Given the description of an element on the screen output the (x, y) to click on. 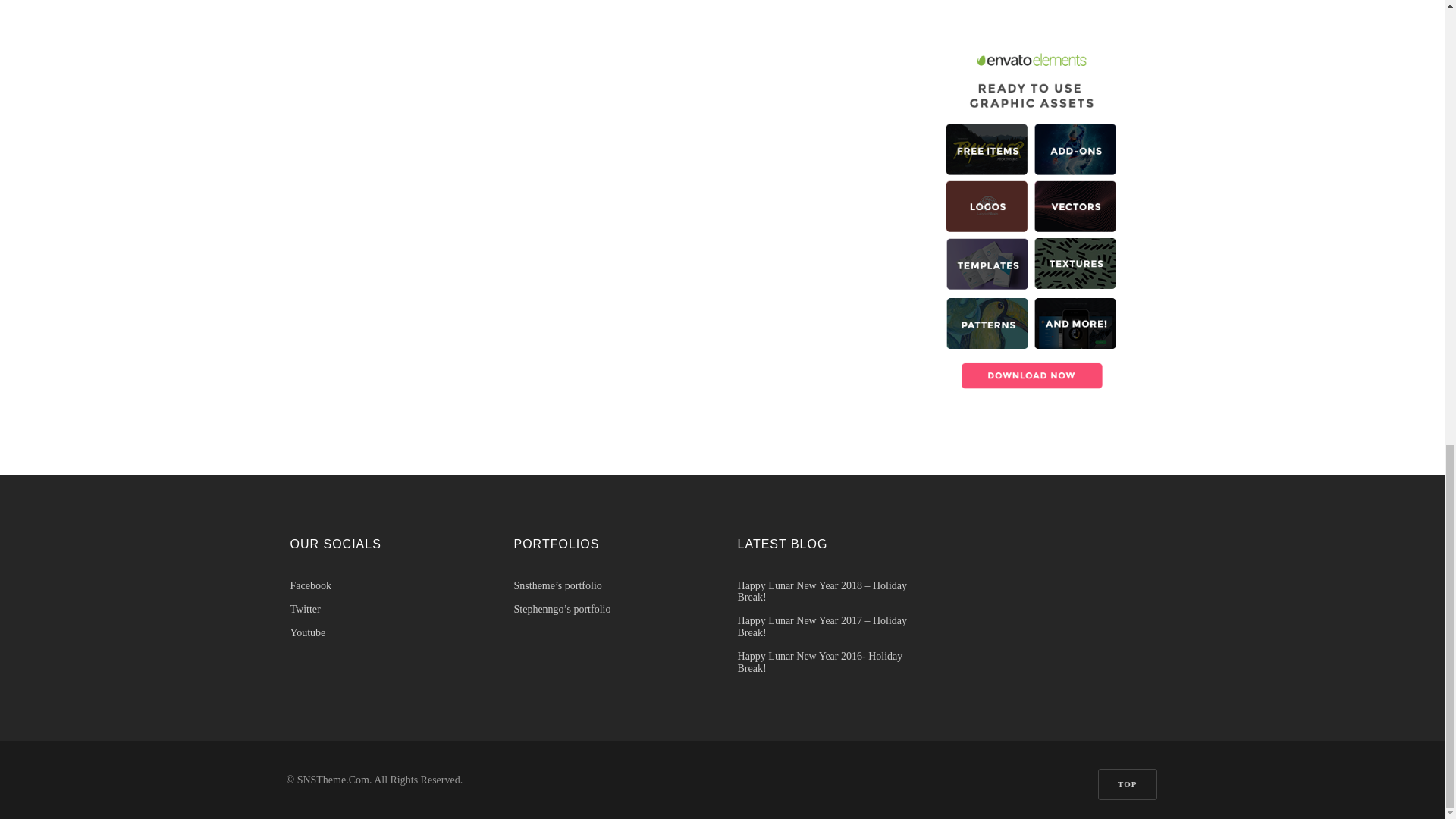
Facebook (386, 585)
Twitter (386, 609)
